Given the description of an element on the screen output the (x, y) to click on. 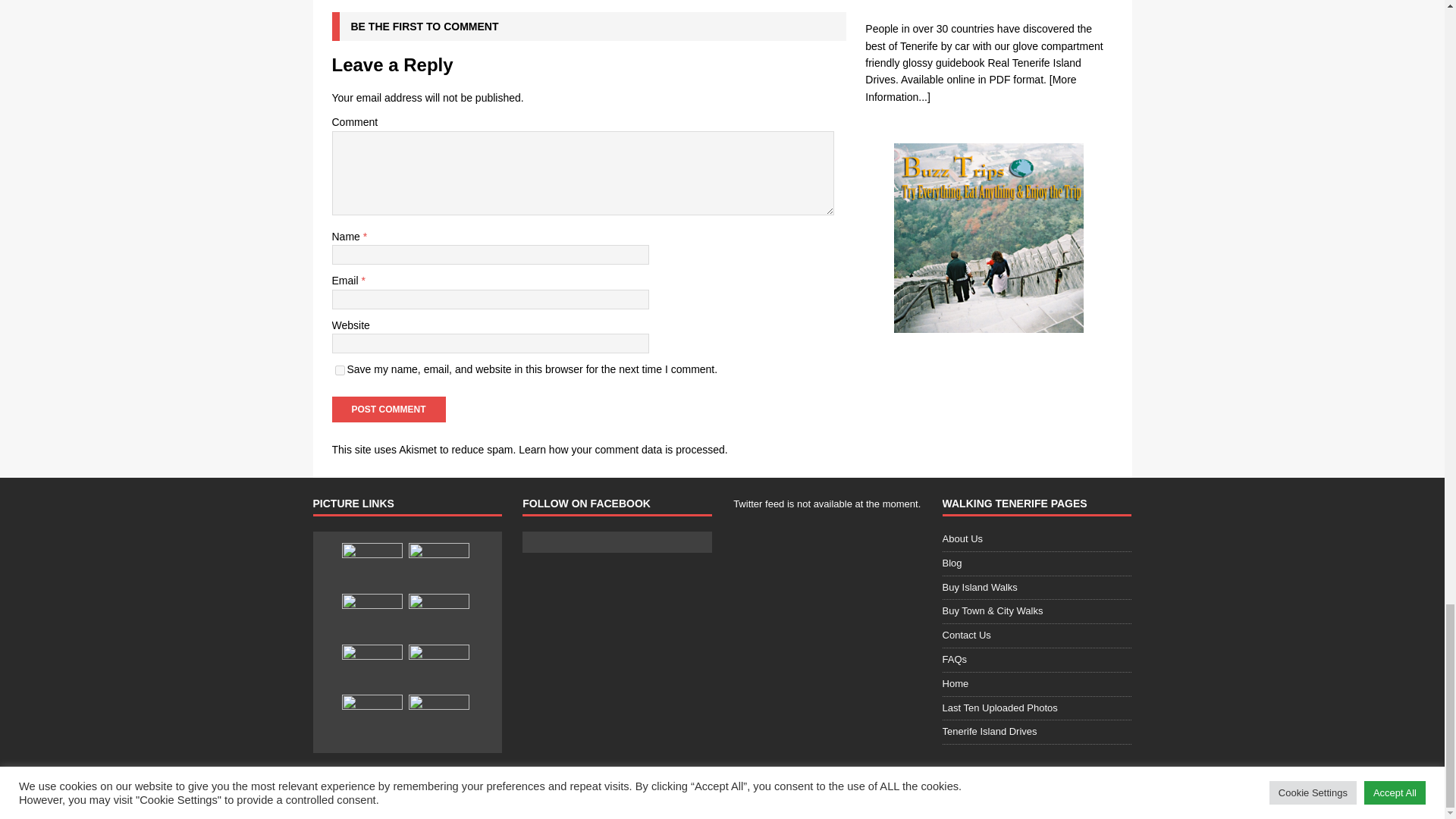
Post Comment (388, 409)
yes (339, 370)
